Given the description of an element on the screen output the (x, y) to click on. 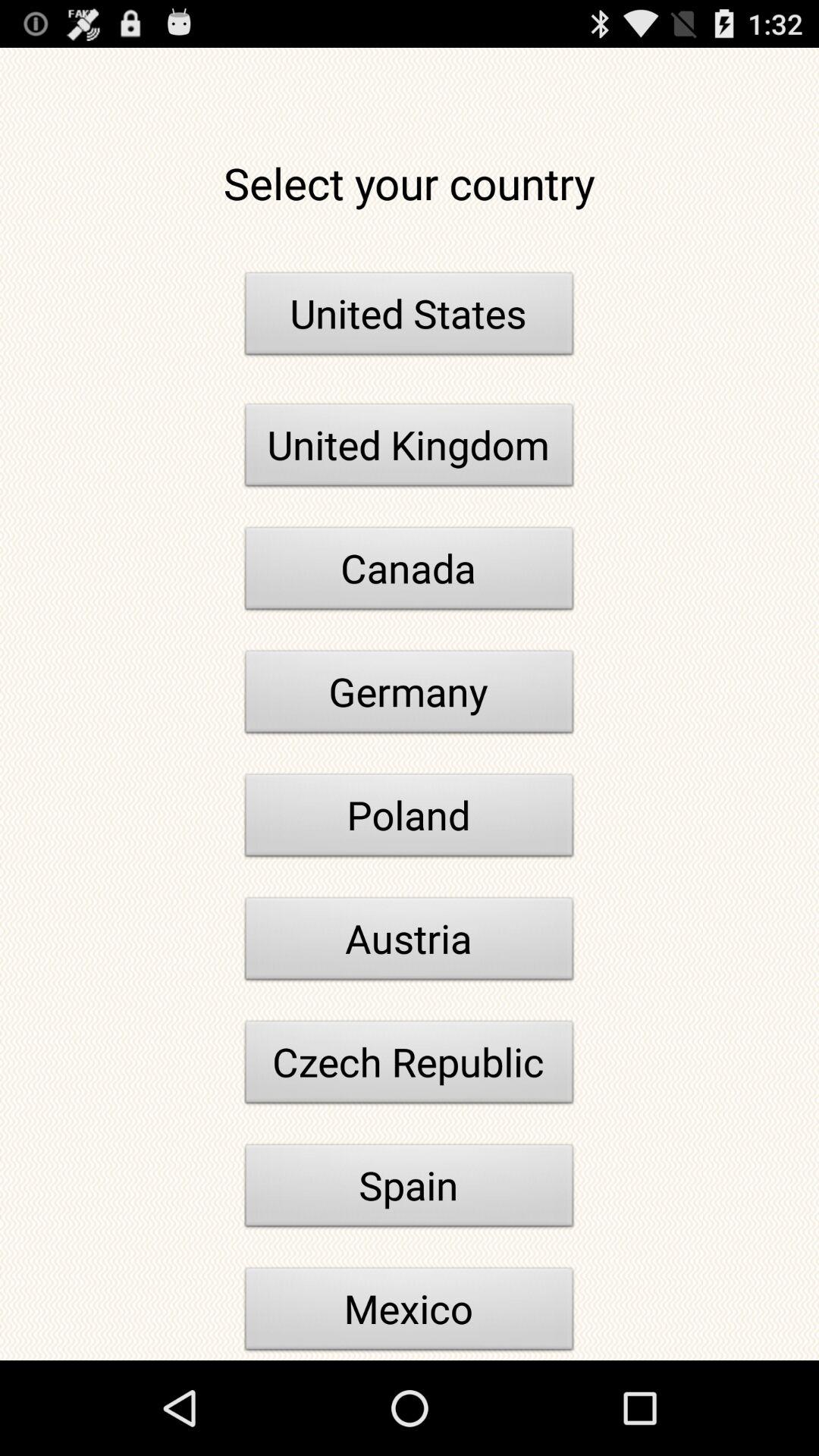
scroll until the mexico (409, 1312)
